Given the description of an element on the screen output the (x, y) to click on. 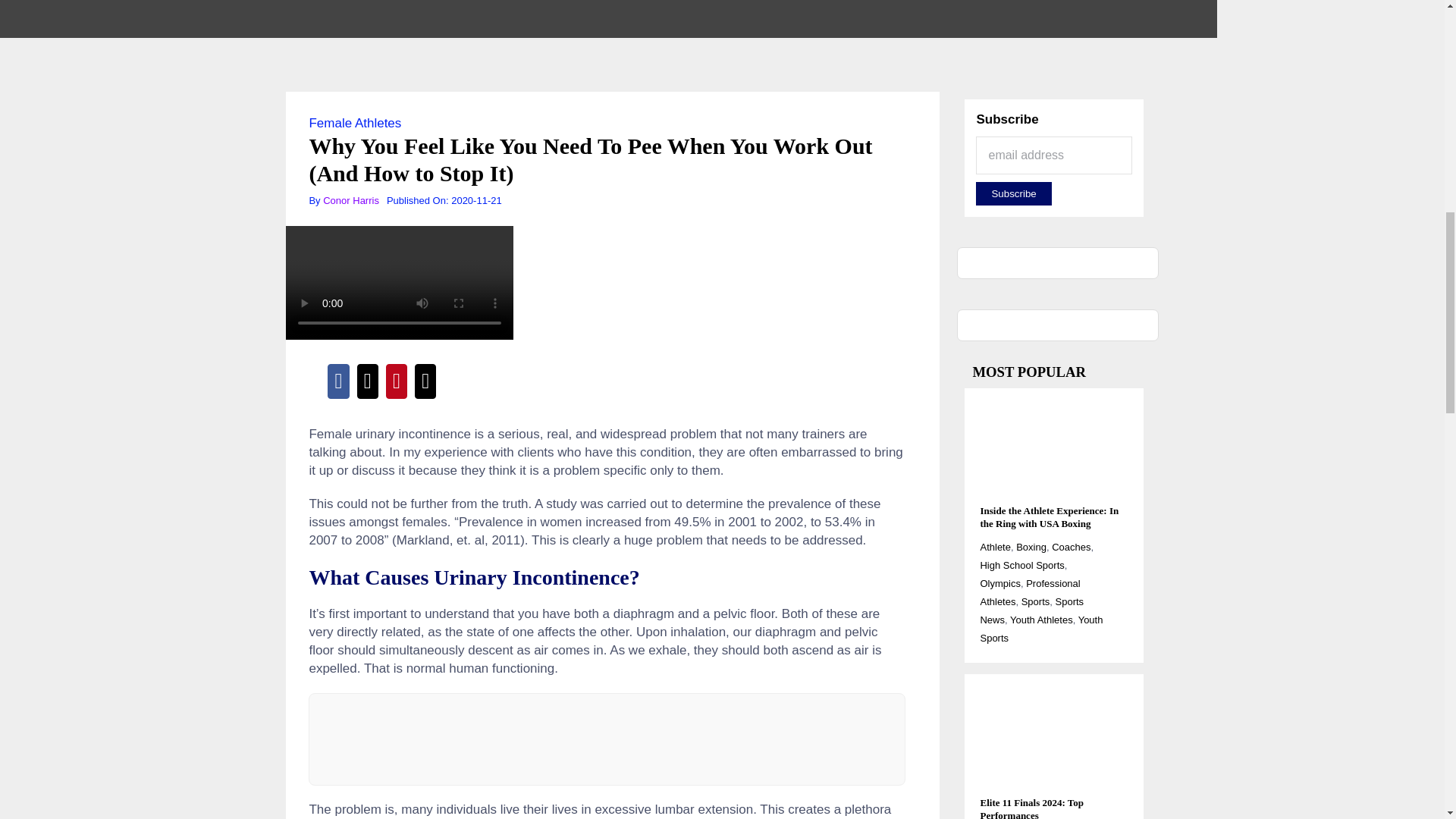
Female Athletes (354, 123)
Subscribe (1013, 193)
Posts by Conor Harris (350, 200)
